Given the description of an element on the screen output the (x, y) to click on. 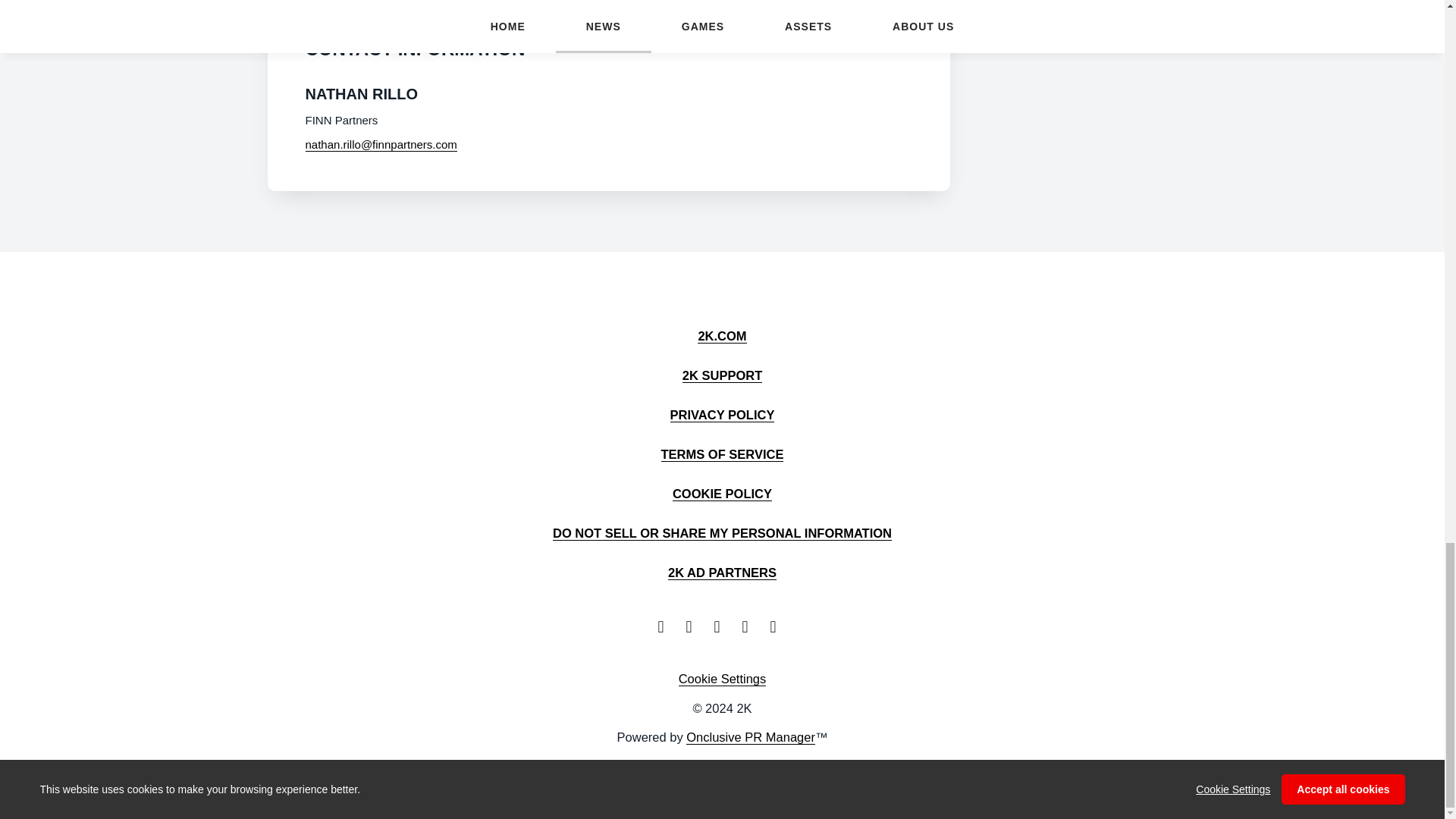
YouTube (722, 626)
Cookie Settings (722, 678)
PRIVACY POLICY (721, 414)
TERMS OF SERVICE (722, 453)
Instagram (778, 626)
2K SUPPORT (721, 374)
Facebook (693, 626)
TERMS OF SERVICE (722, 453)
2K.COM (721, 335)
2K SUPPORT (721, 374)
Onclusive PR Manager (750, 737)
DO NOT SELL OR SHARE MY PERSONAL INFORMATION (722, 532)
2K.COM (721, 335)
PRIVACY POLICY (721, 414)
2K AD PARTNERS (722, 572)
